Given the description of an element on the screen output the (x, y) to click on. 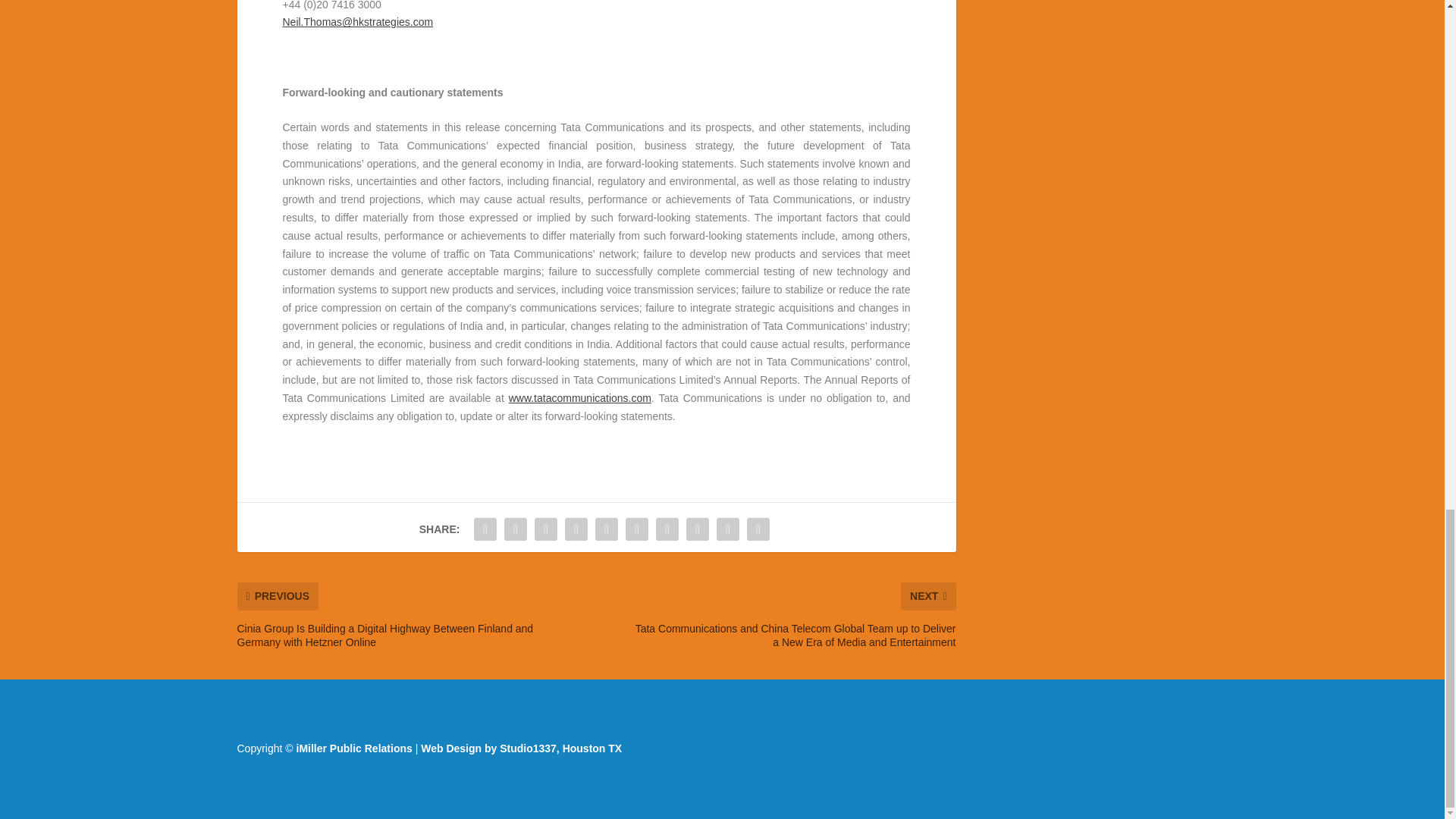
www.tatacommunications.com (579, 398)
